Given the description of an element on the screen output the (x, y) to click on. 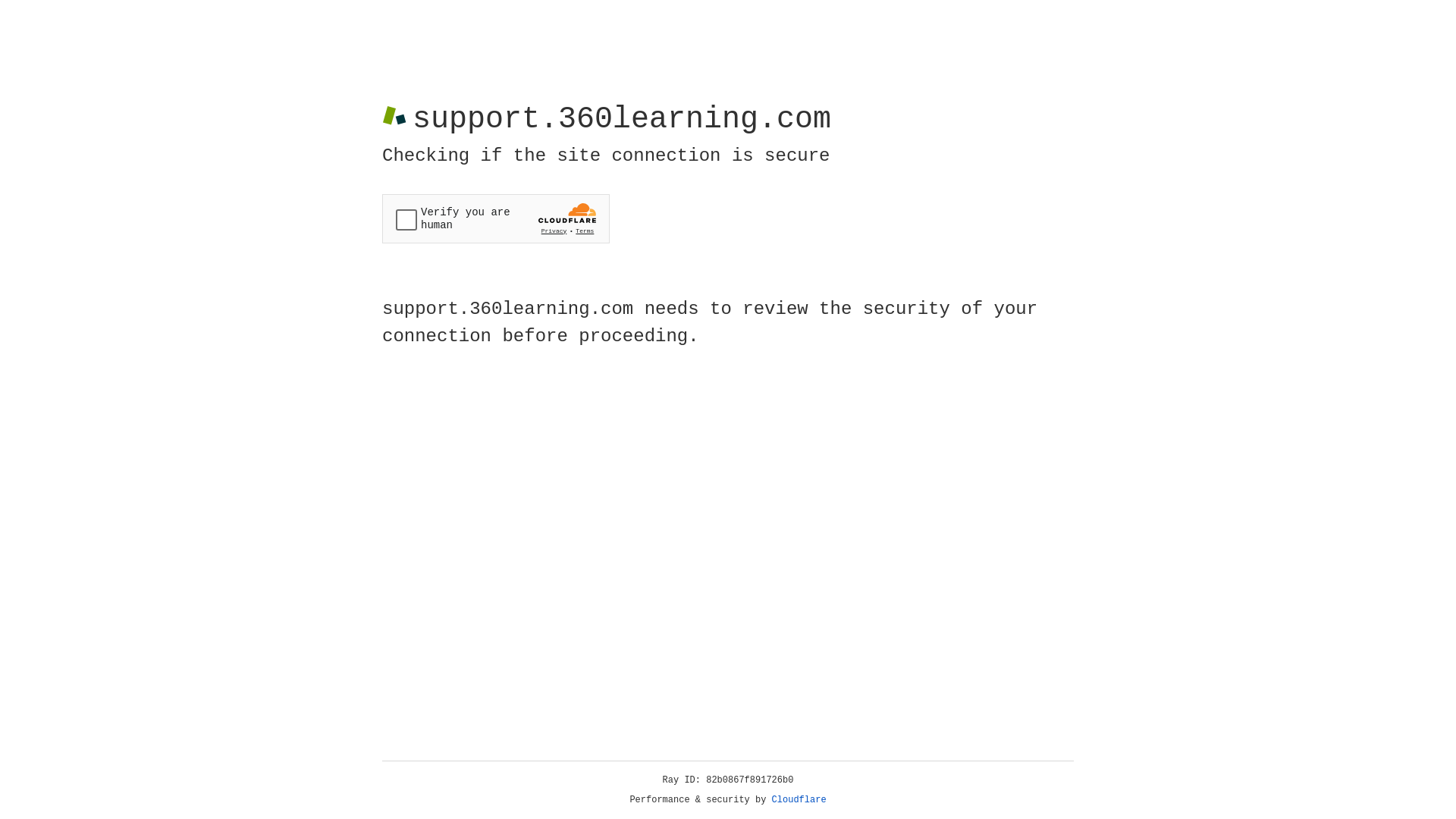
Cloudflare Element type: text (798, 799)
Widget containing a Cloudflare security challenge Element type: hover (495, 218)
